Given the description of an element on the screen output the (x, y) to click on. 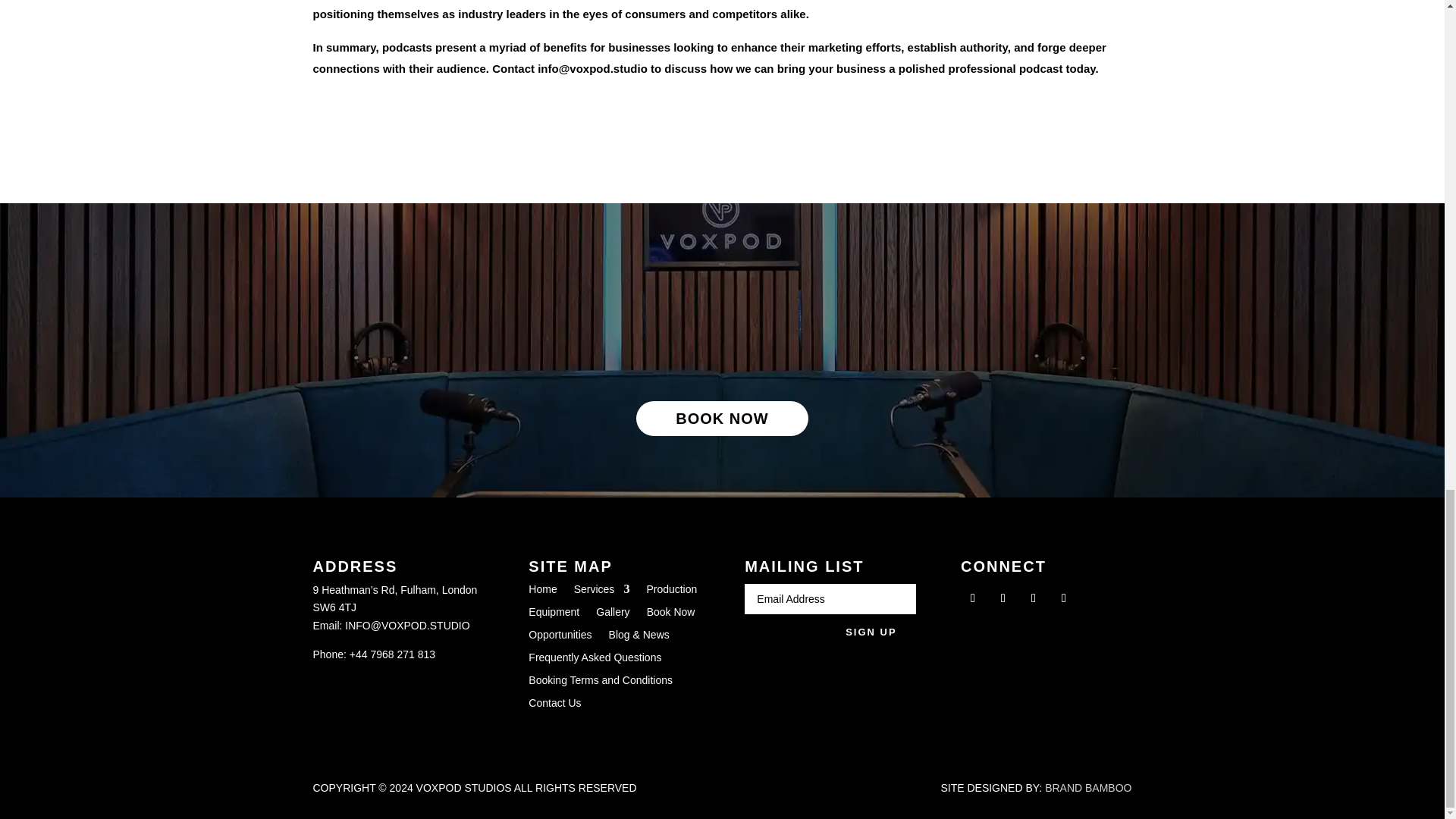
Follow on X (1002, 598)
VOXPOD Podcast Studios London (713, 321)
Follow on Facebook (972, 598)
Follow on Youtube (1063, 598)
Follow on Instagram (1033, 598)
